Given the description of an element on the screen output the (x, y) to click on. 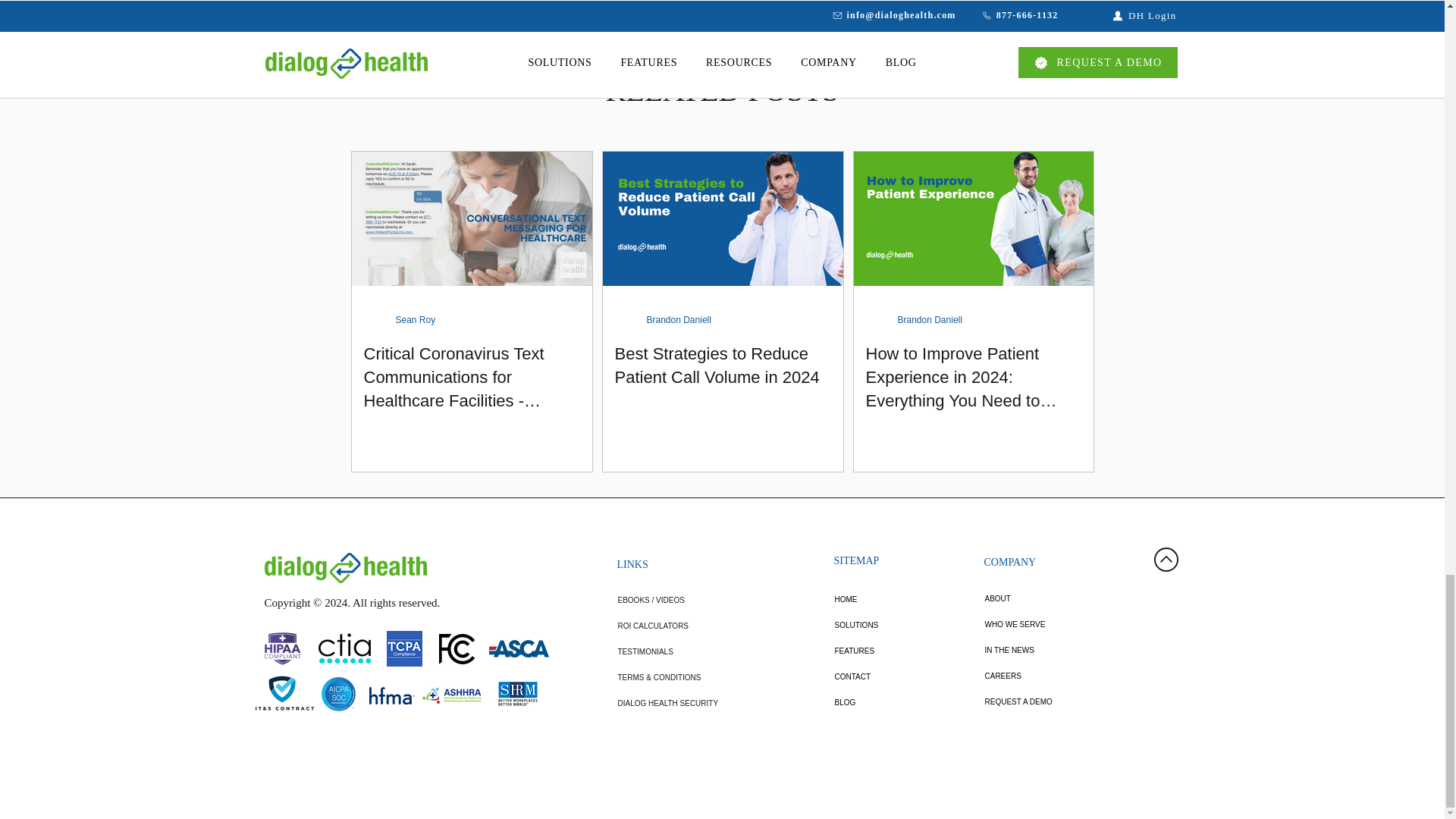
asca-logo.png (517, 648)
Brandon Daniell (930, 319)
dialog health.png (344, 567)
Brandon Daniell (678, 319)
Sean Roy (415, 319)
